Given the description of an element on the screen output the (x, y) to click on. 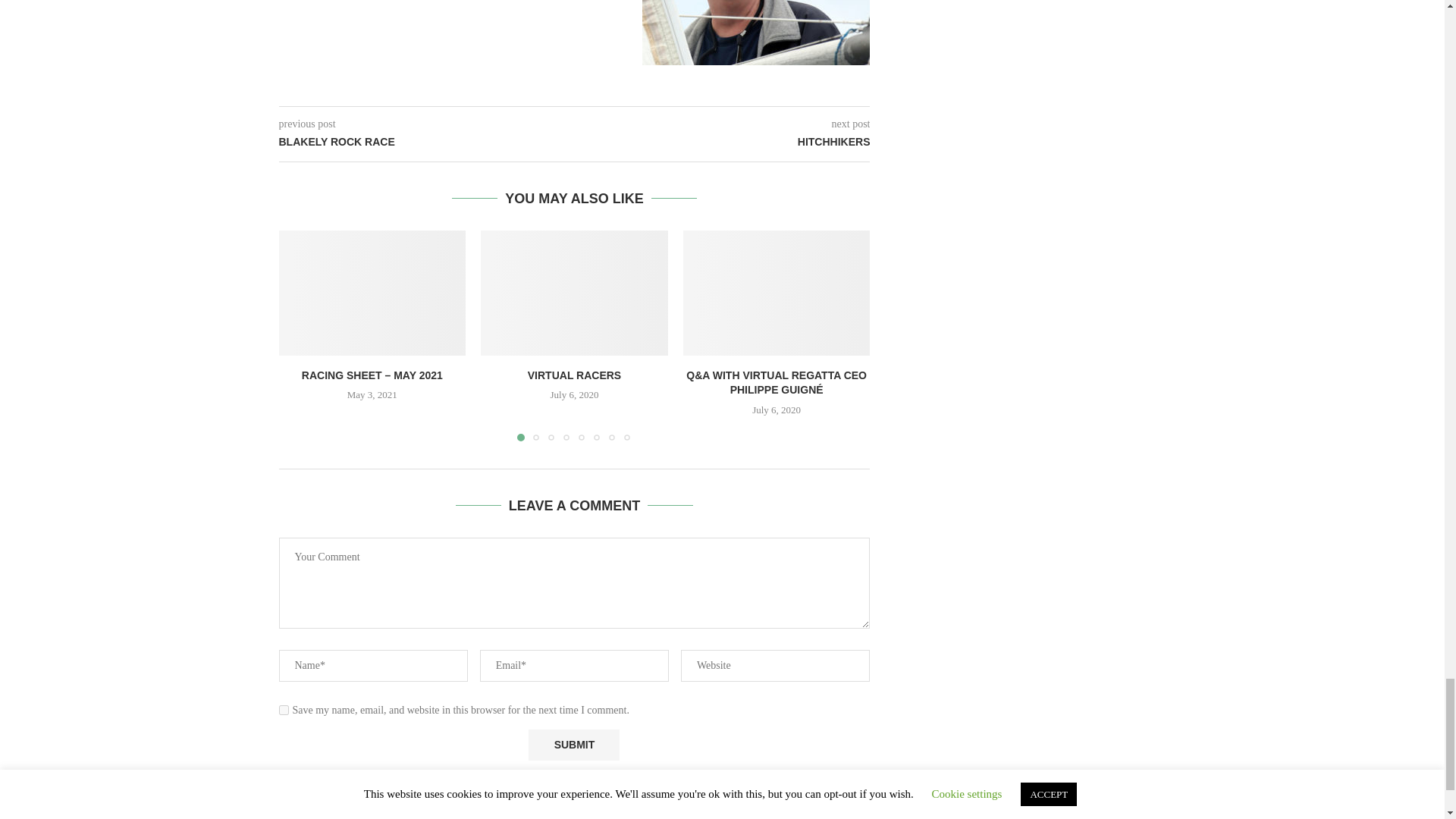
Submit (574, 744)
yes (283, 709)
Virtual Racers (574, 292)
